Given the description of an element on the screen output the (x, y) to click on. 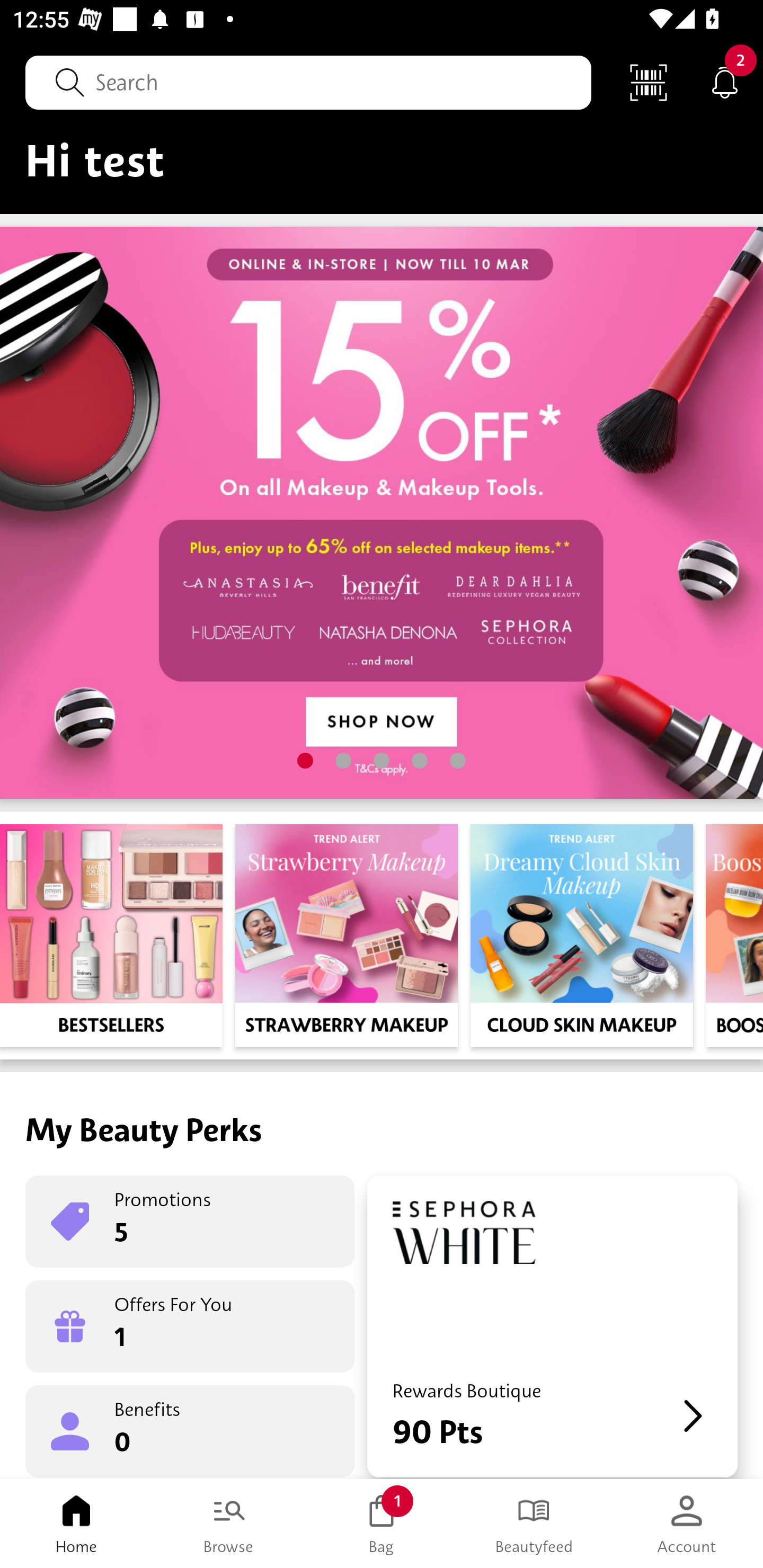
Scan Code (648, 81)
Notifications (724, 81)
Search (308, 81)
Promotions 5 (189, 1221)
Rewards Boutique 90 Pts (552, 1326)
Offers For You 1 (189, 1326)
Benefits 0 (189, 1430)
Browse (228, 1523)
Bag 1 Bag (381, 1523)
Beautyfeed (533, 1523)
Account (686, 1523)
